Given the description of an element on the screen output the (x, y) to click on. 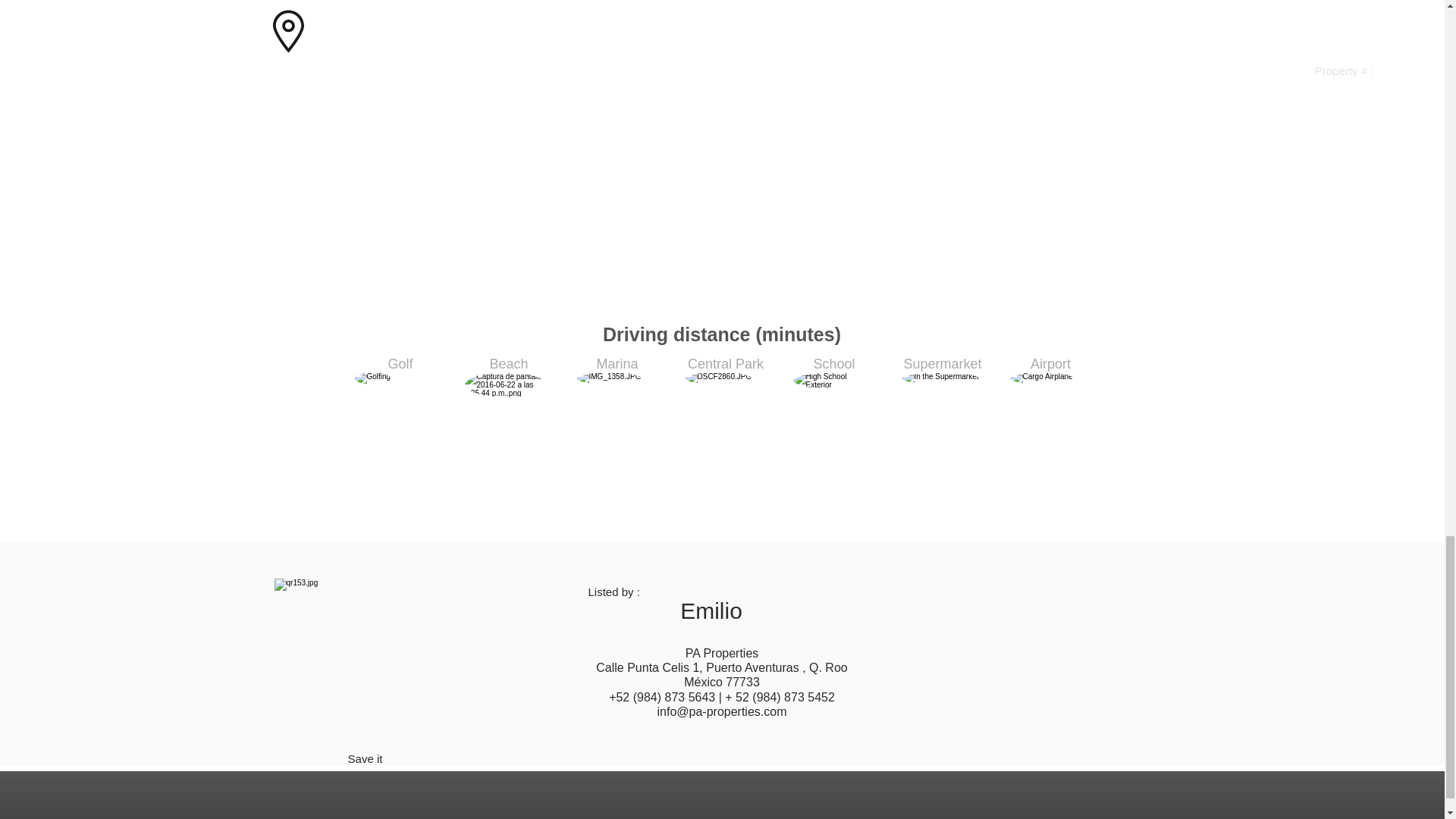
Save it (364, 758)
qr391.jpg (355, 659)
